Given the description of an element on the screen output the (x, y) to click on. 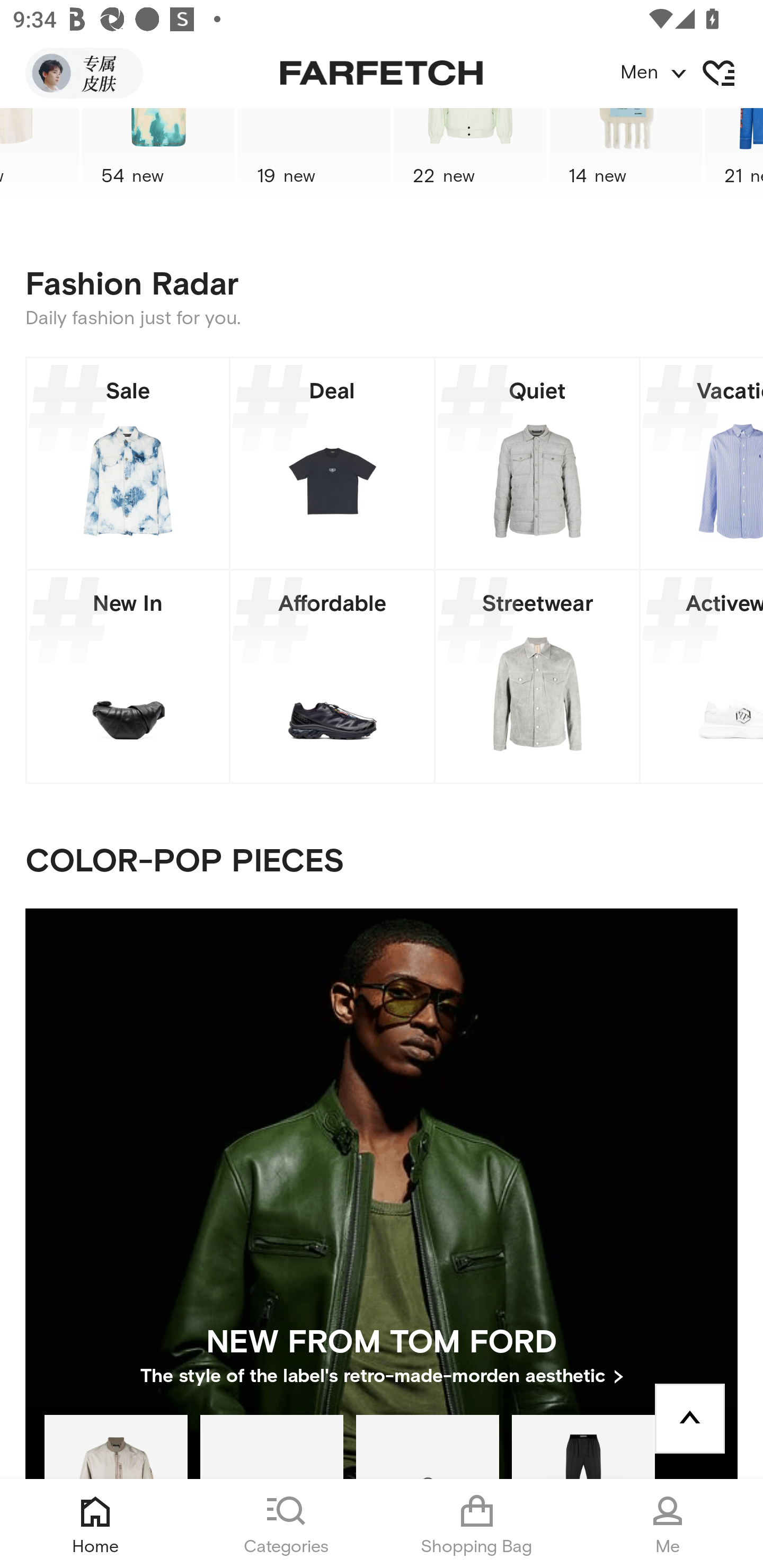
Men (691, 72)
54  new (158, 157)
19  new (314, 157)
22  new (469, 157)
14  new (625, 157)
Sale (127, 463)
Deal (332, 463)
Quiet (537, 463)
Vacation (701, 463)
New In (127, 676)
Affordable (332, 676)
Streetwear (537, 676)
Activewear (701, 676)
TOM FORD (582, 1446)
Categories (285, 1523)
Shopping Bag (476, 1523)
Me (667, 1523)
